Given the description of an element on the screen output the (x, y) to click on. 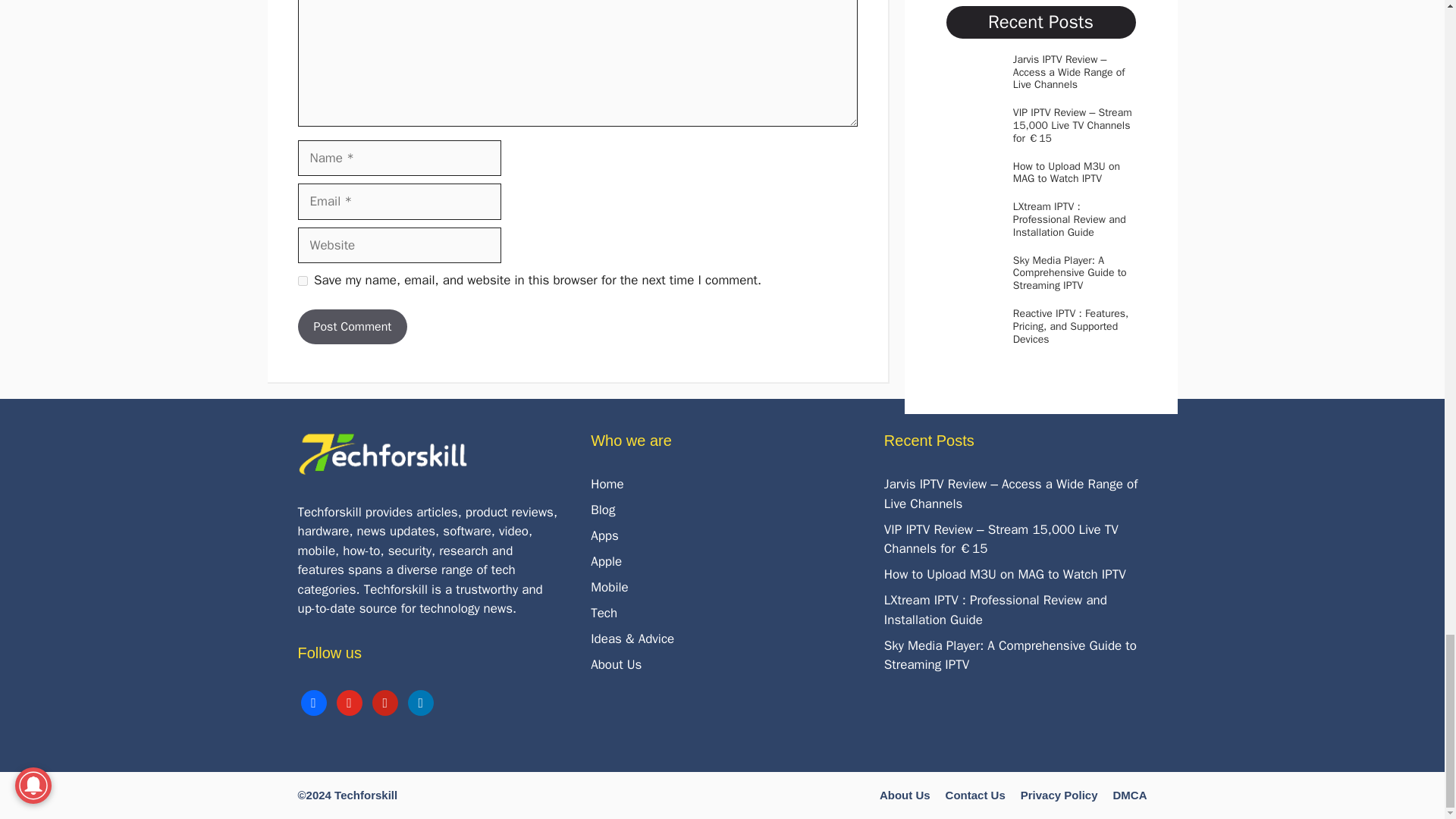
yes (302, 280)
Post Comment (352, 326)
Facebook (312, 701)
Post Comment (352, 326)
